Given the description of an element on the screen output the (x, y) to click on. 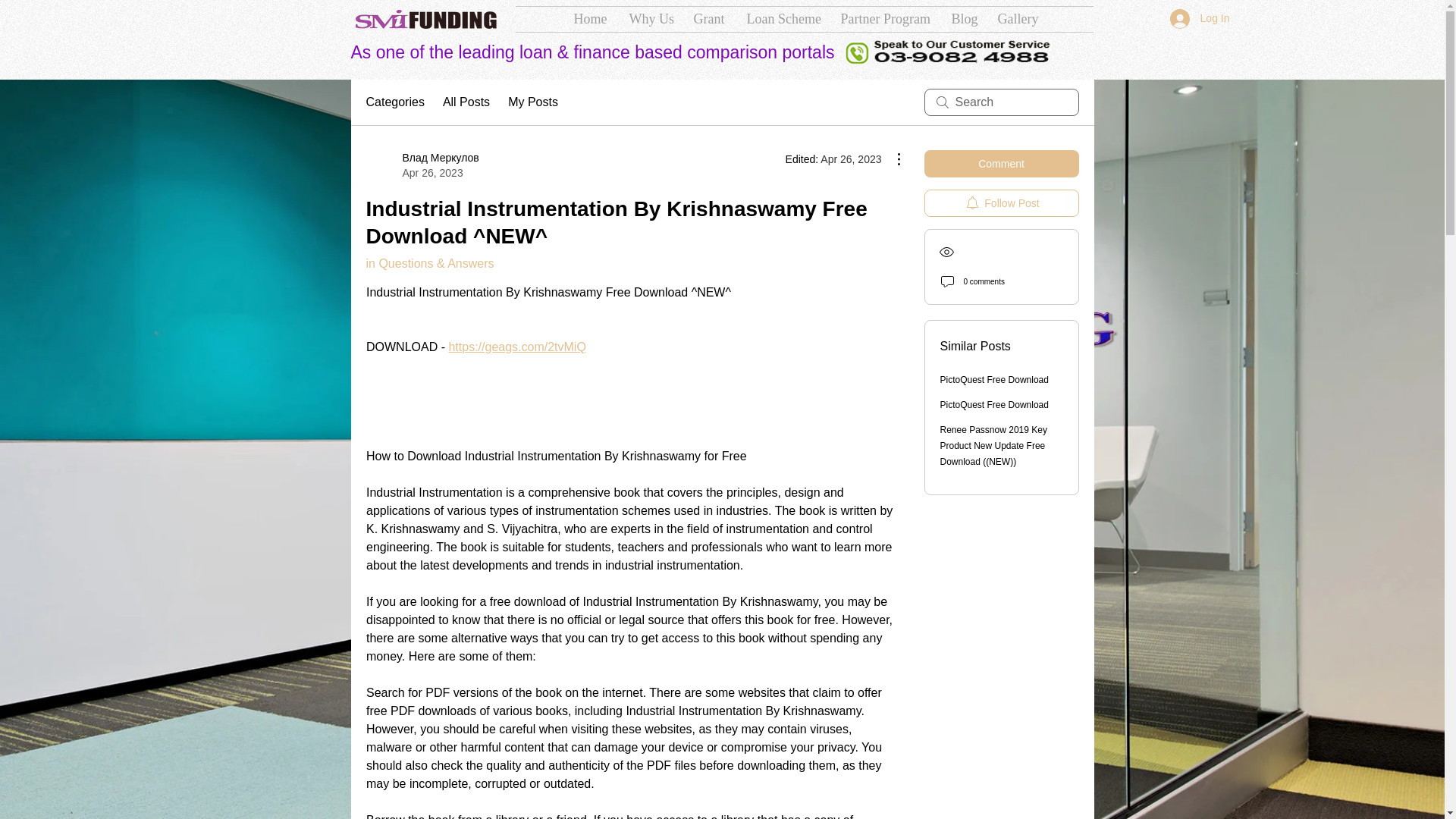
Comment (1000, 163)
Log In (1199, 18)
Loan Scheme (782, 18)
Follow Post (1000, 203)
SMIFINDING LOGO.png (425, 18)
My Posts (532, 102)
PictoQuest Free Download (994, 379)
Partner Program (884, 18)
Home (589, 18)
All Posts (465, 102)
